Given the description of an element on the screen output the (x, y) to click on. 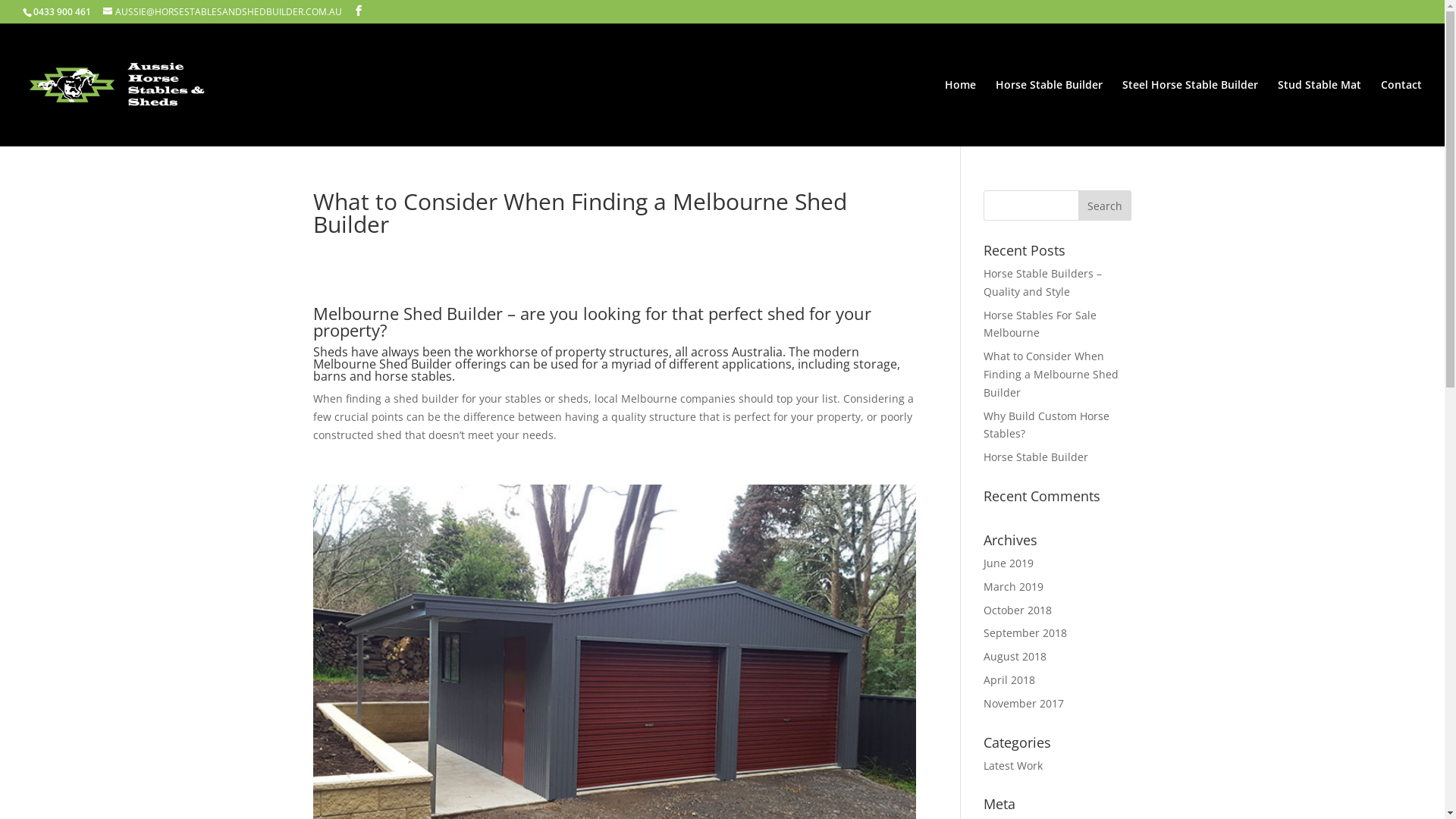
Horse Stables For Sale Melbourne Element type: text (1039, 323)
Latest Work Element type: text (1012, 765)
Contact Element type: text (1400, 112)
September 2018 Element type: text (1024, 632)
April 2018 Element type: text (1009, 679)
August 2018 Element type: text (1014, 656)
Stud Stable Mat Element type: text (1319, 112)
Search Element type: text (1104, 205)
March 2019 Element type: text (1013, 586)
What to Consider When Finding a Melbourne Shed Builder Element type: text (1050, 373)
Why Build Custom Horse Stables? Element type: text (1046, 424)
Steel Horse Stable Builder Element type: text (1190, 112)
October 2018 Element type: text (1017, 609)
Horse Stable Builder Element type: text (1035, 456)
Home Element type: text (959, 112)
AUSSIE@HORSESTABLESANDSHEDBUILDER.COM.AU Element type: text (222, 11)
June 2019 Element type: text (1008, 562)
November 2017 Element type: text (1023, 703)
Horse Stable Builder Element type: text (1048, 112)
